Given the description of an element on the screen output the (x, y) to click on. 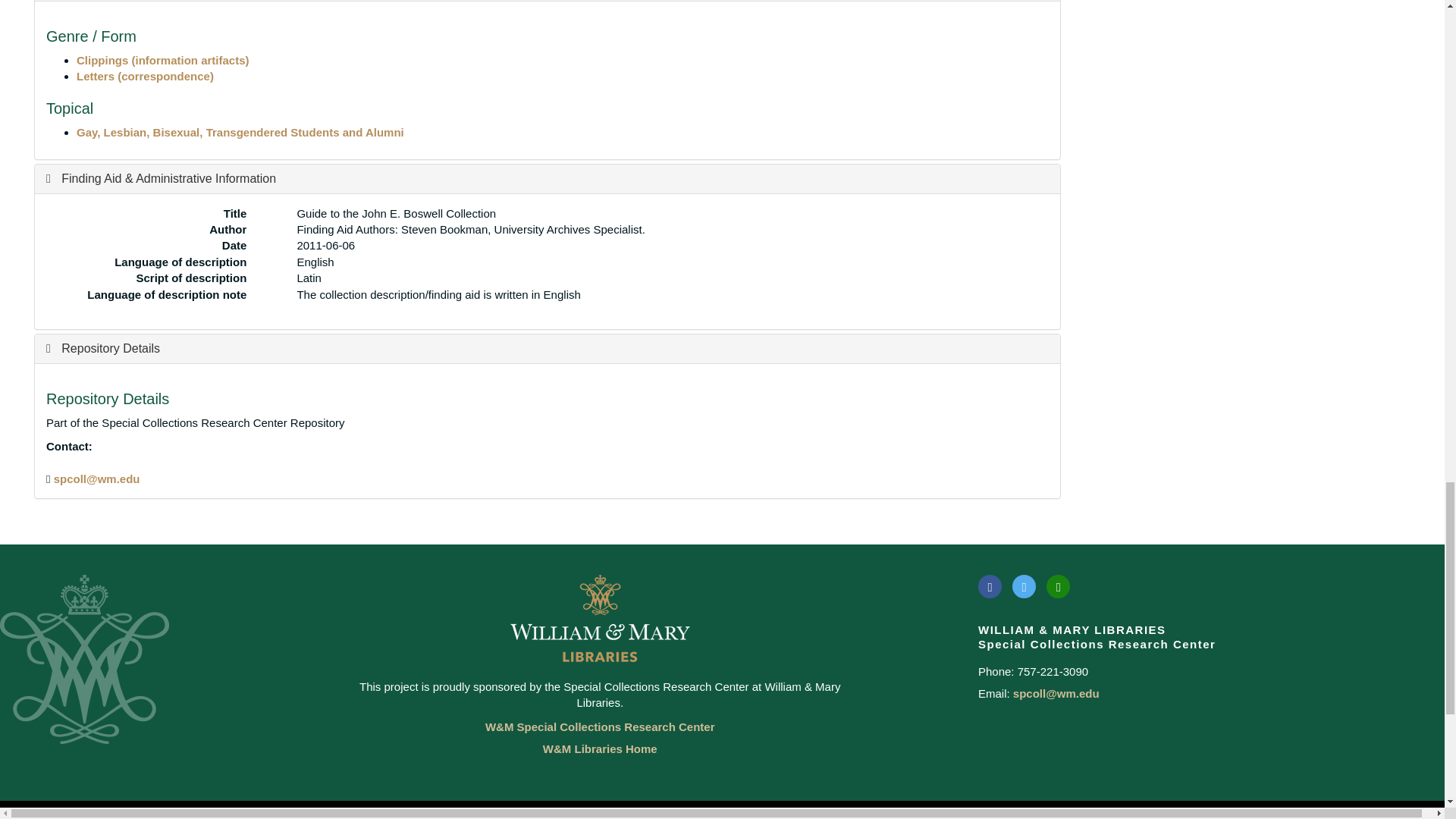
Special Collections Twitter (1023, 586)
Special Collections Blog (1058, 586)
Send email (96, 478)
Special Collections Facebook (989, 586)
